Given the description of an element on the screen output the (x, y) to click on. 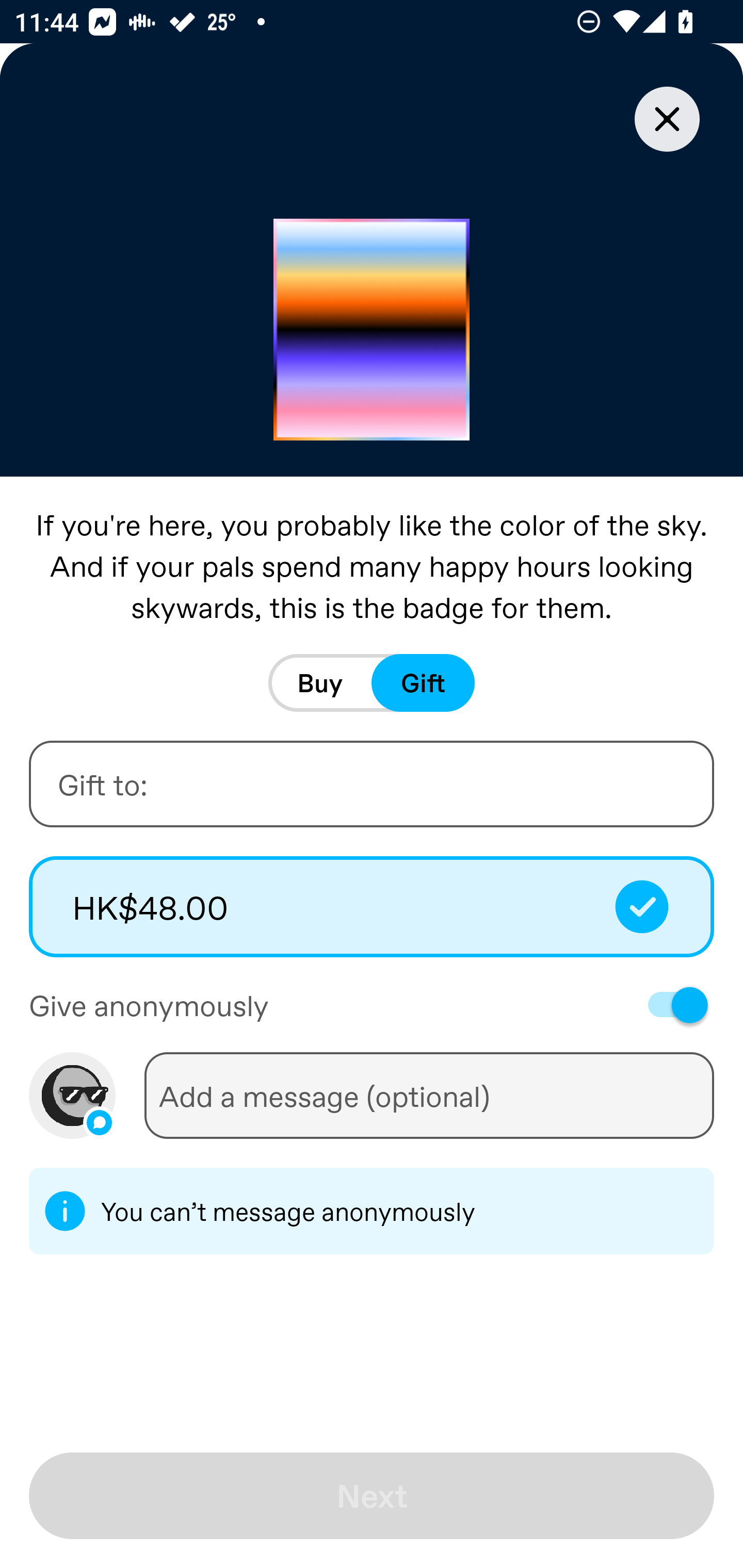
Buy (319, 682)
Gift (423, 682)
Gift to: (371, 783)
Add a message (optional) (429, 1095)
Next (371, 1495)
